Given the description of an element on the screen output the (x, y) to click on. 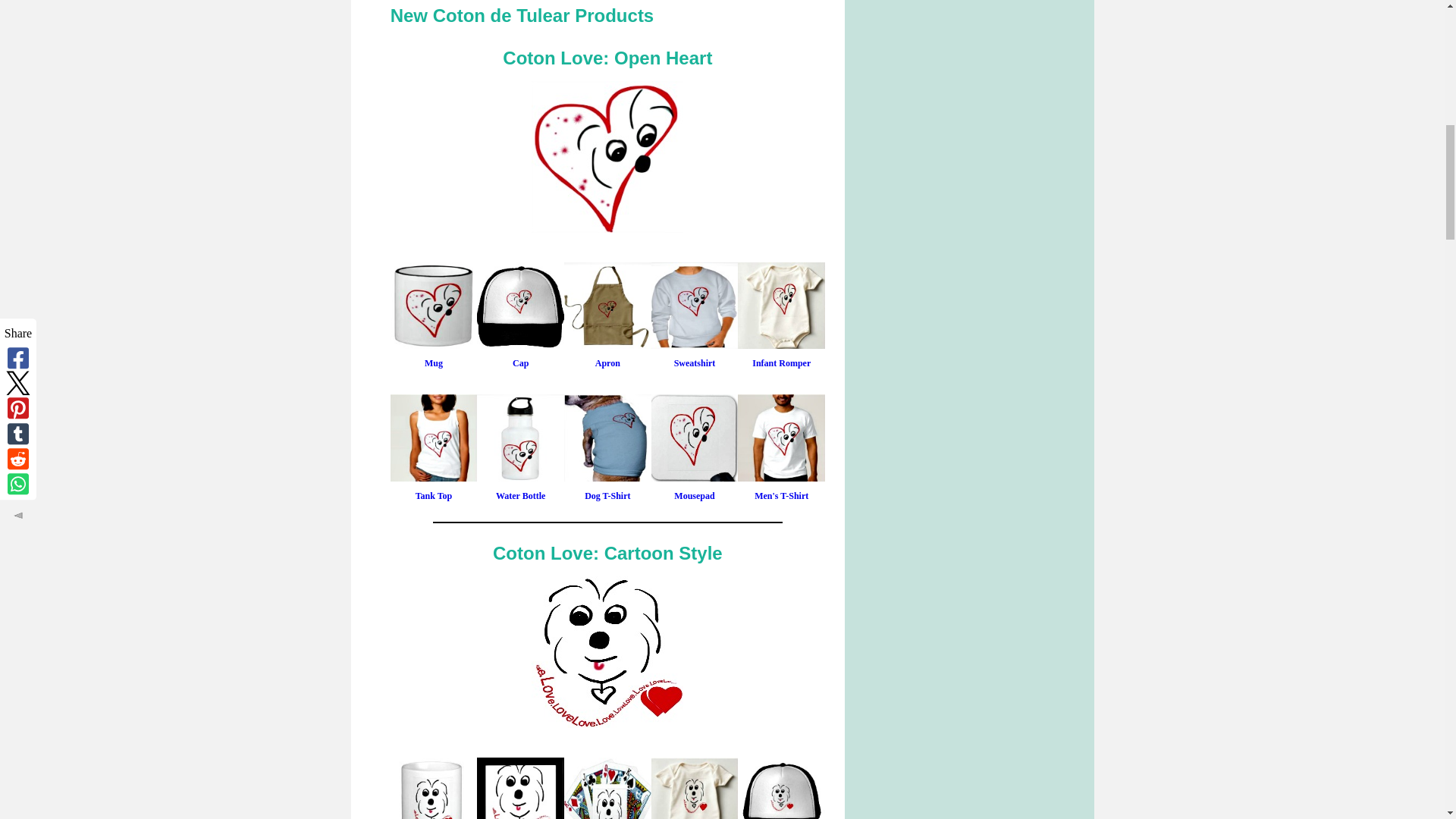
Coton de Tulear Apron (607, 305)
Coton de Tulear Store (606, 156)
Coton de Tulear Store (606, 652)
coton de tulear mug (433, 788)
coton de tulear men's t-shirt (781, 437)
coton de tulear baby romper (781, 305)
coton de tulear mug (433, 305)
coton de tulear water bottle (520, 437)
Coton de Tulear Tank Top (433, 437)
coton de tulear gift box (520, 788)
